Given the description of an element on the screen output the (x, y) to click on. 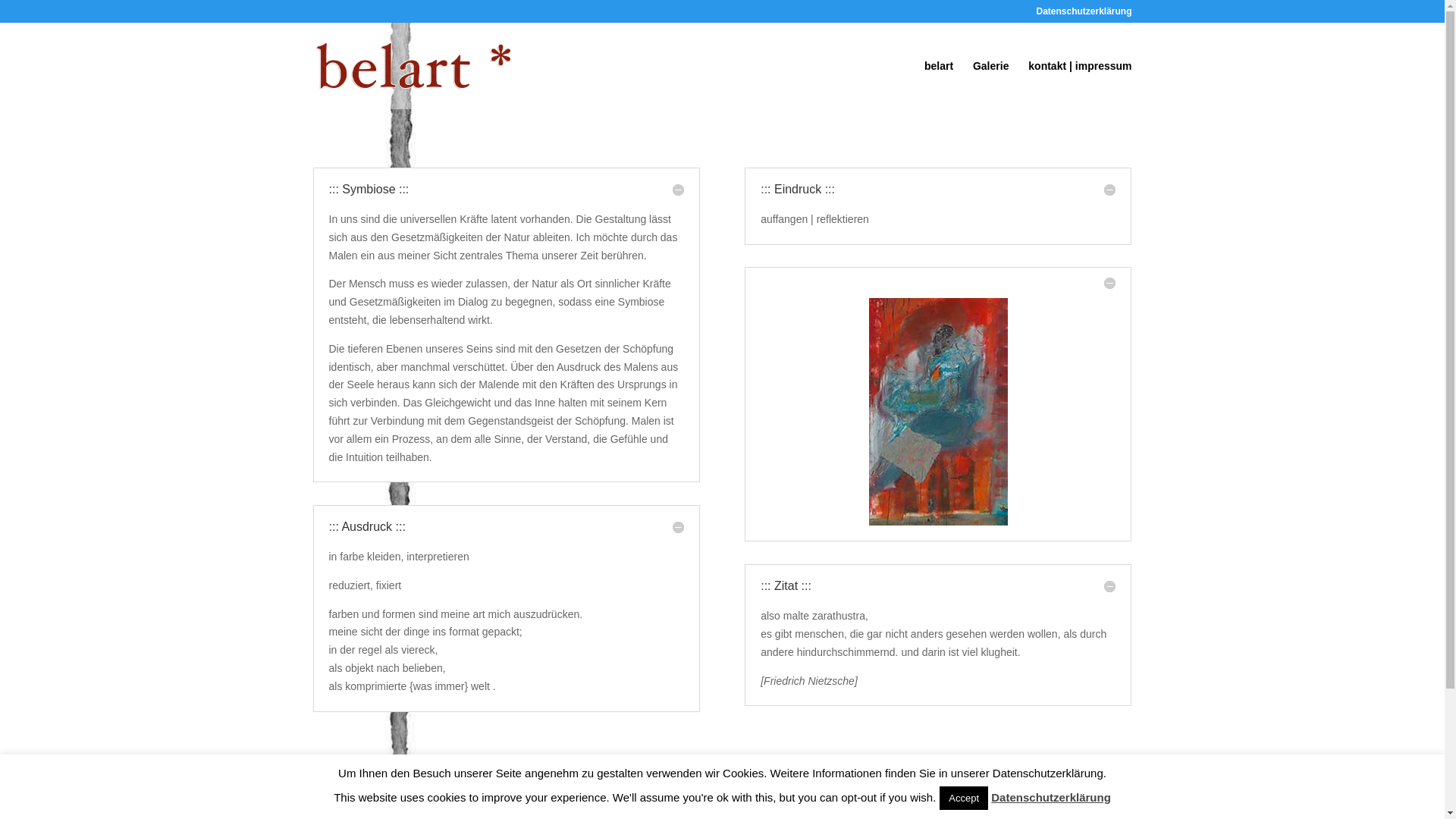
kontakt | impressum Element type: text (1079, 84)
retour Element type: text (811, 793)
belart Element type: text (938, 84)
Galerie Element type: text (990, 84)
Accept Element type: text (963, 797)
